Given the description of an element on the screen output the (x, y) to click on. 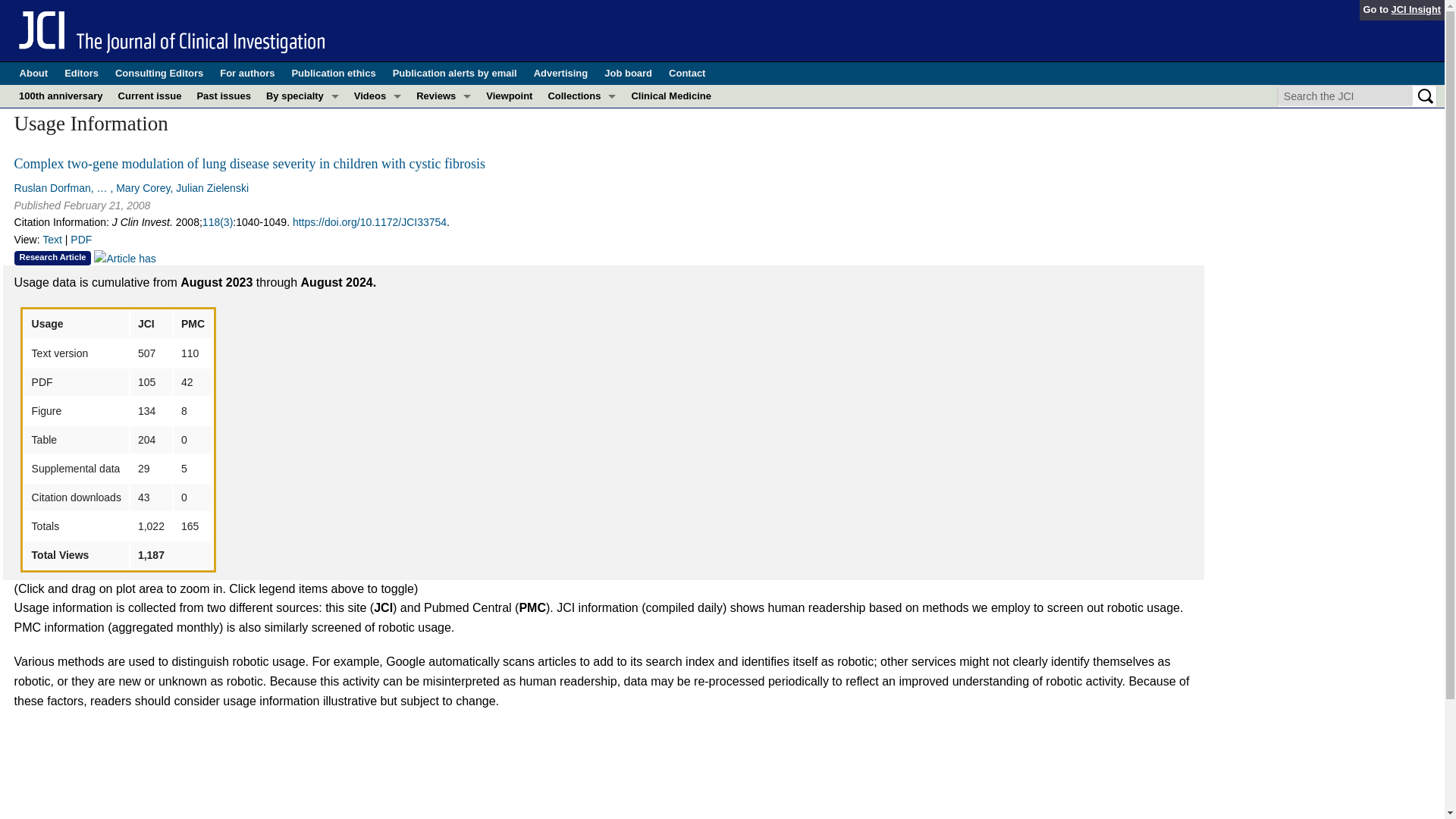
Immunology (302, 187)
By specialty (302, 96)
Editors (81, 73)
View all reviews ... (444, 137)
For authors (247, 73)
100th anniversary (60, 96)
Metabolism (302, 210)
Gastroenterology (302, 164)
Vascular biology (302, 323)
Reviews (444, 96)
